Given the description of an element on the screen output the (x, y) to click on. 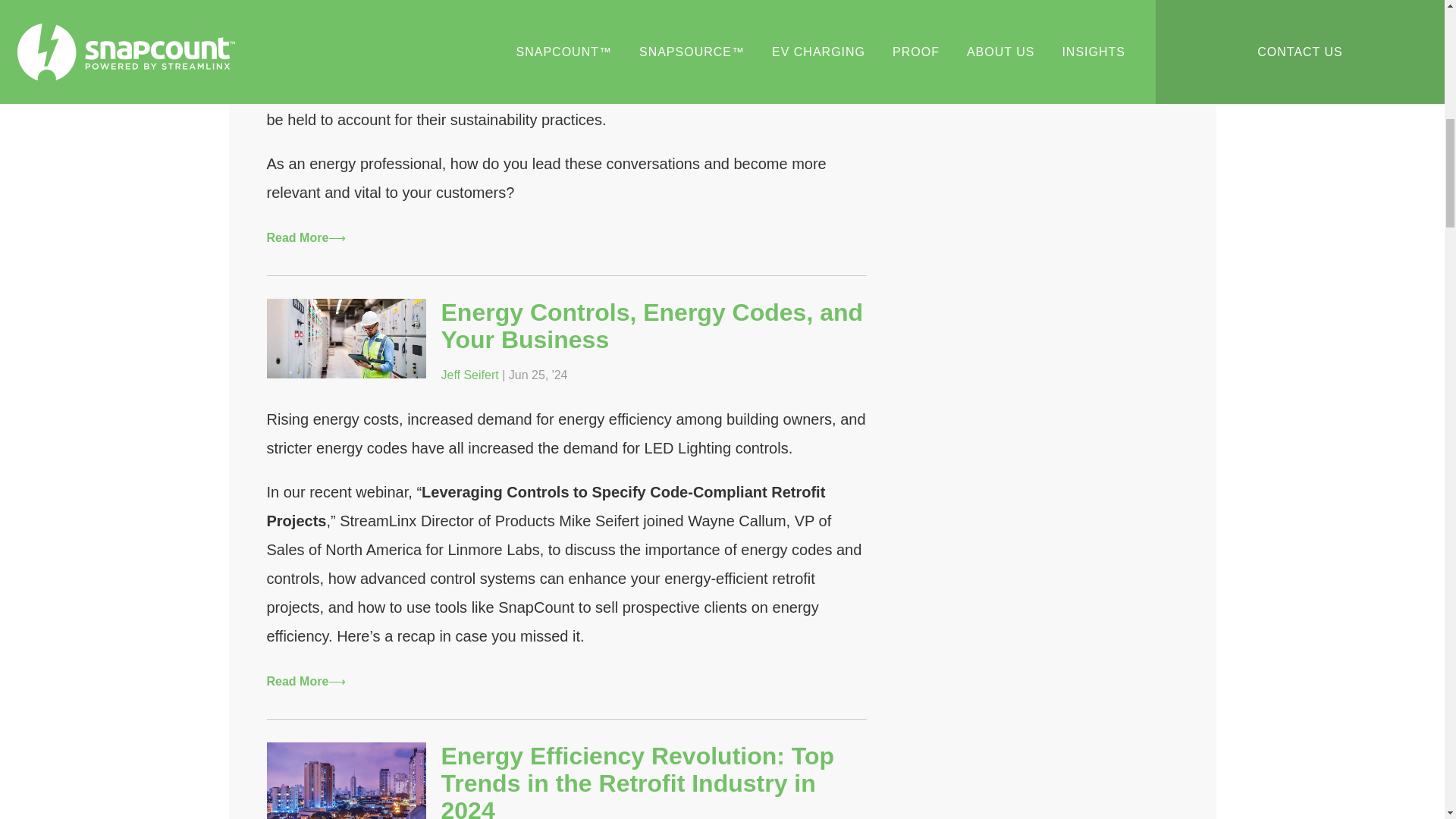
Read More (306, 681)
Read More (306, 237)
Energy Controls, Energy Codes, and Your Business (652, 325)
Jeff Seifert (470, 374)
